Given the description of an element on the screen output the (x, y) to click on. 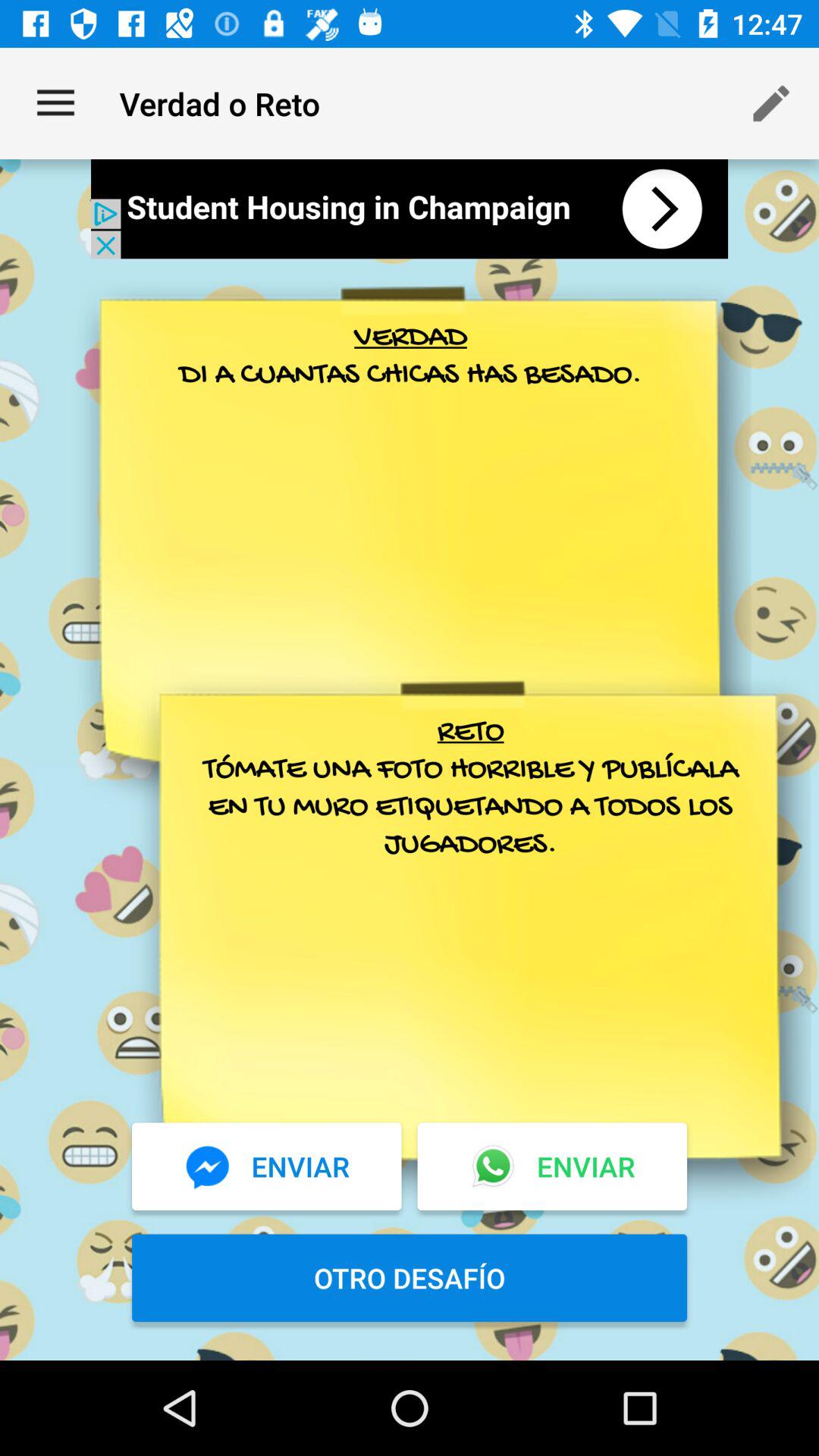
open advertisement (409, 208)
